Given the description of an element on the screen output the (x, y) to click on. 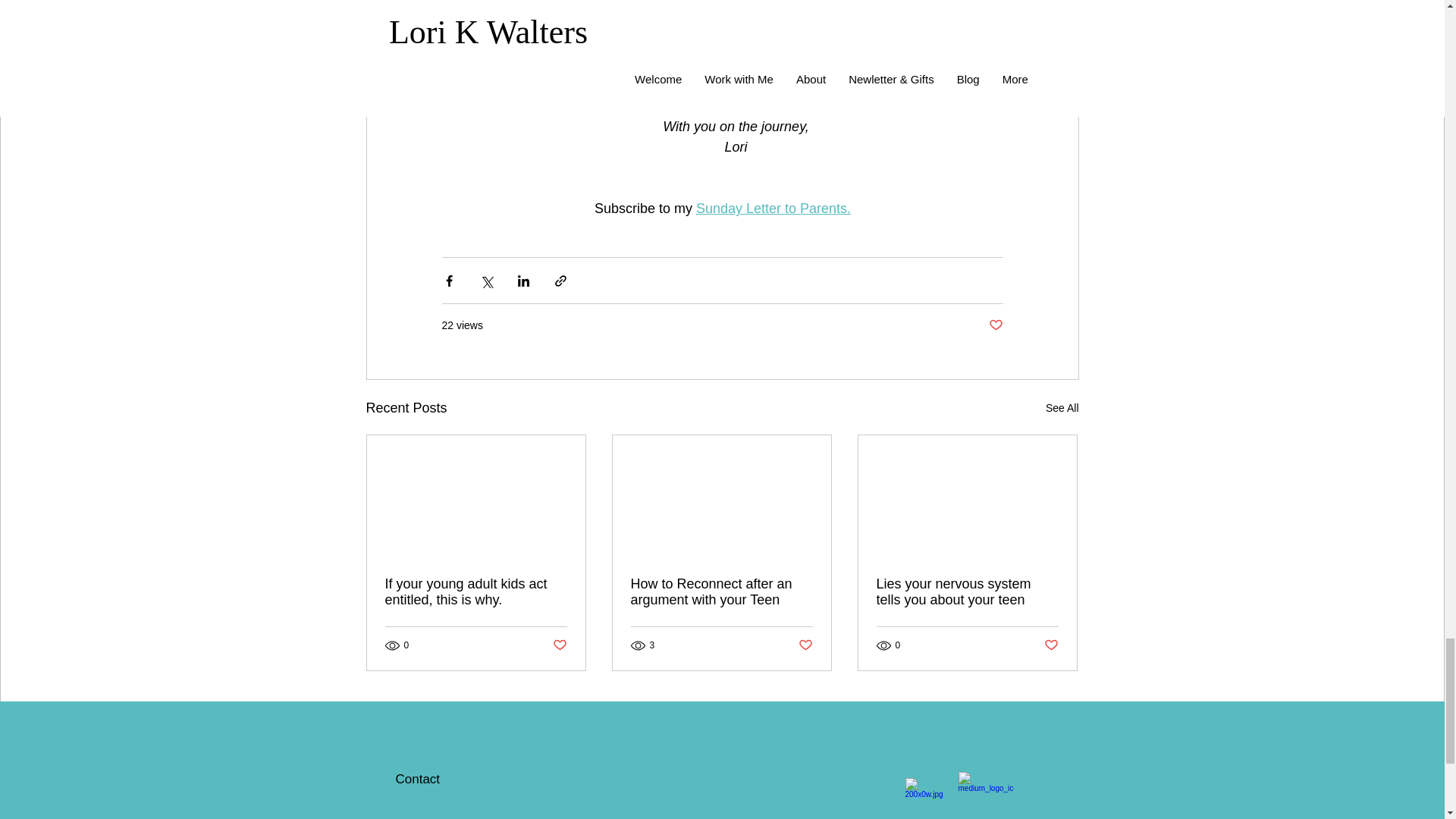
How to Reconnect after an argument with your Teen (721, 592)
Sunday Letter to Parents. (772, 208)
Post not marked as liked (804, 645)
See All (1061, 408)
If your young adult kids act entitled, this is why. (476, 592)
Post not marked as liked (1050, 645)
Post not marked as liked (558, 645)
Post not marked as liked (995, 325)
Lies your nervous system tells you about your teen (967, 592)
